Given the description of an element on the screen output the (x, y) to click on. 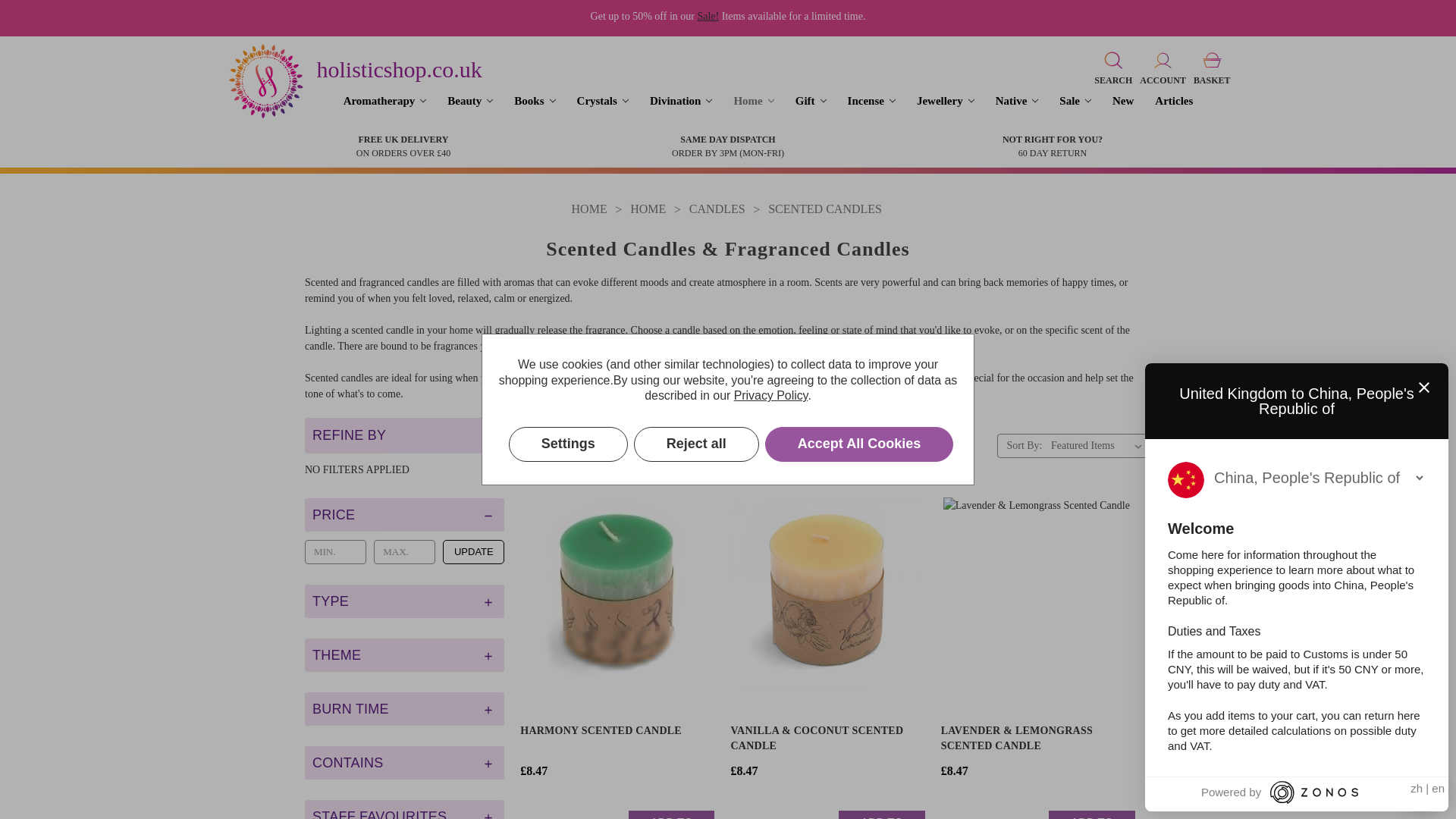
holisticshop.co.uk (399, 69)
Sale! (708, 16)
Customer reviews powered by Trustpilot (1035, 708)
Harmony Scented Candle (616, 592)
BASKET (1211, 66)
Customer reviews powered by Trustpilot (825, 708)
Aromatherapy (385, 100)
Holistic Shop (264, 80)
ACCOUNT (1162, 66)
SEARCH (1112, 66)
Beauty (469, 100)
Books (534, 100)
Customer reviews powered by Trustpilot (614, 708)
